Given the description of an element on the screen output the (x, y) to click on. 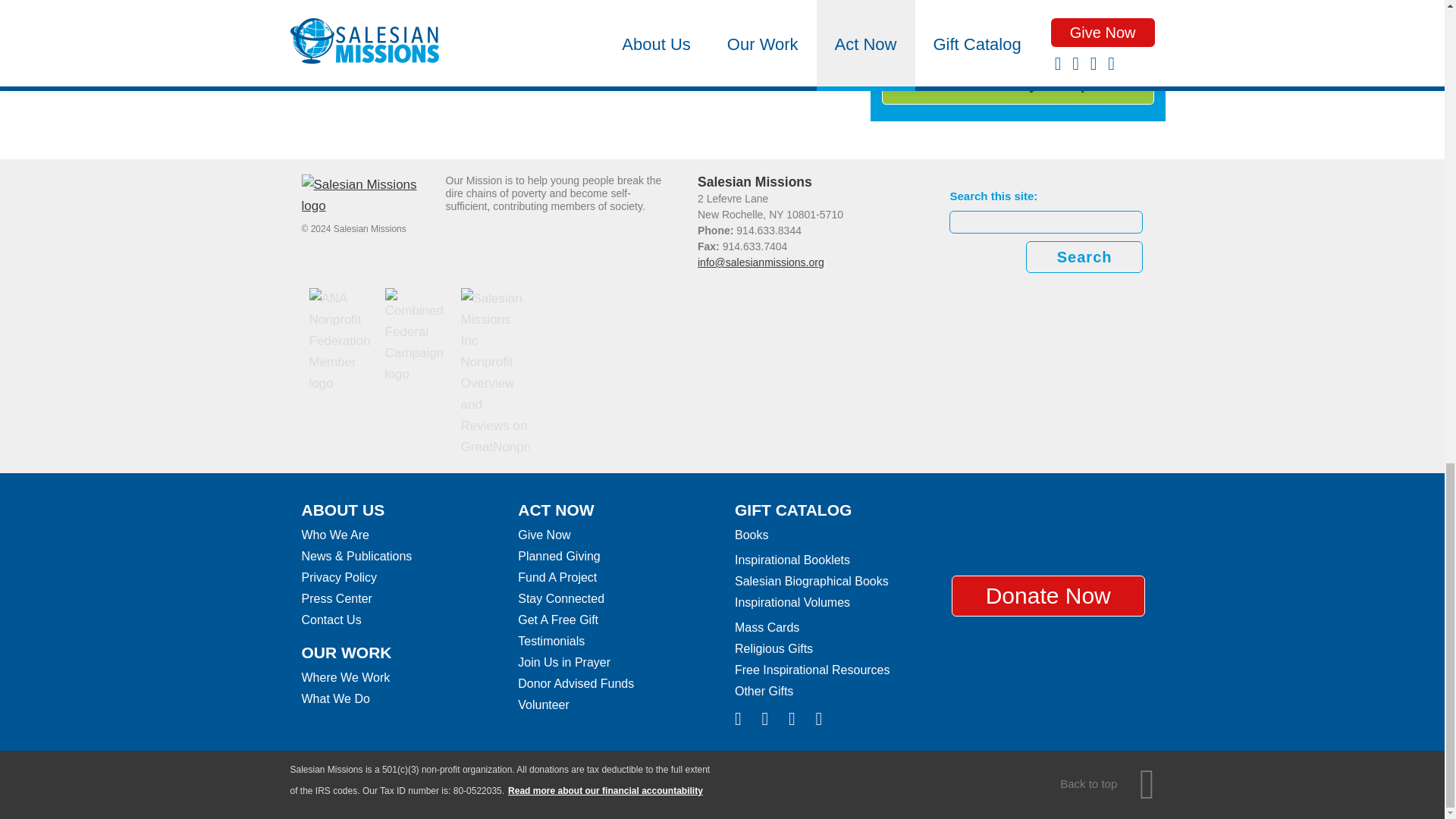
Submit Your Prayer (1017, 84)
Go Top (1106, 783)
Back to top (1106, 783)
get-involved-right-img (1017, 26)
